Given the description of an element on the screen output the (x, y) to click on. 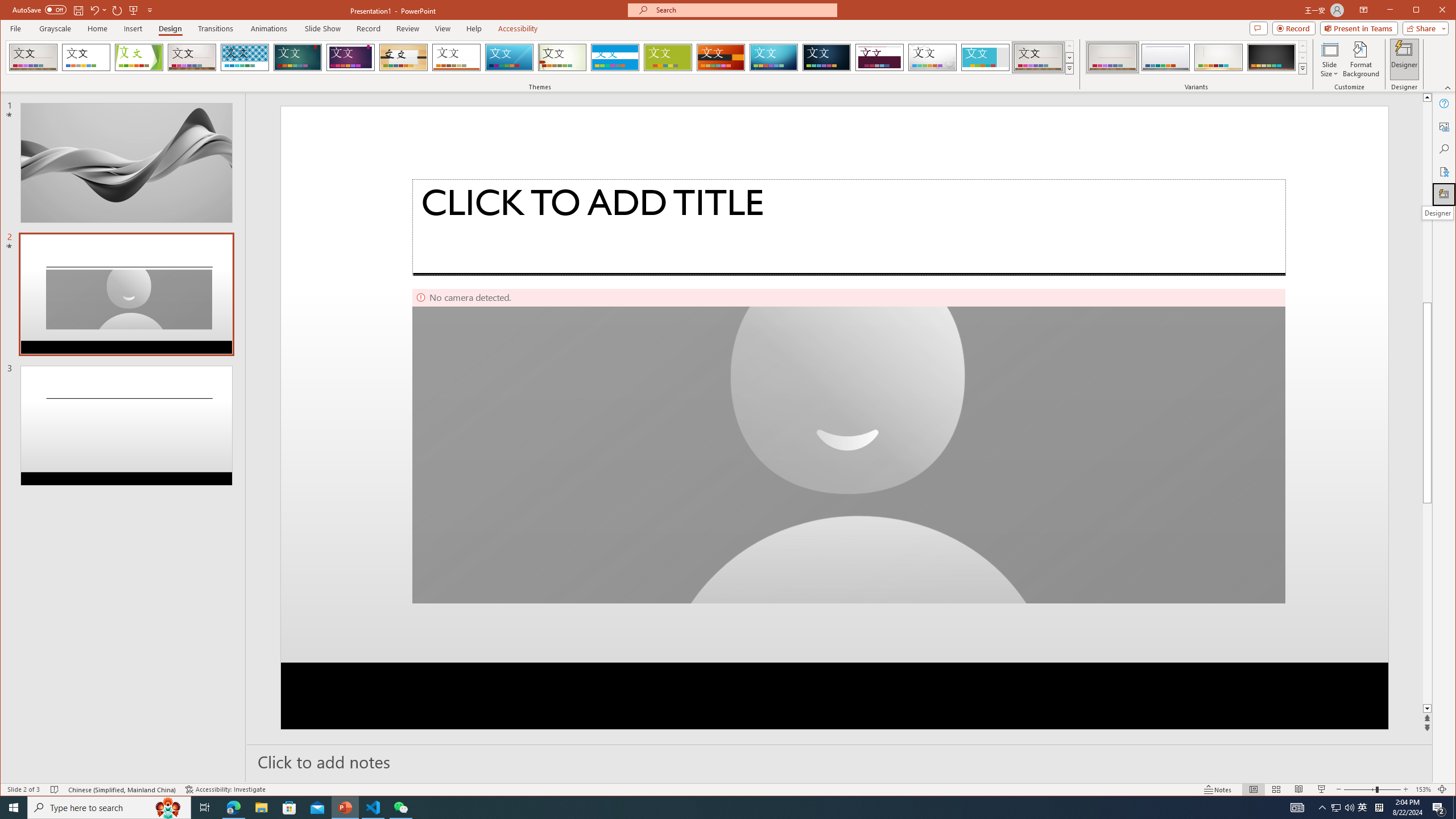
Retrospect (456, 57)
Organic (403, 57)
Variants (1302, 68)
Zoom 153% (1422, 789)
